Given the description of an element on the screen output the (x, y) to click on. 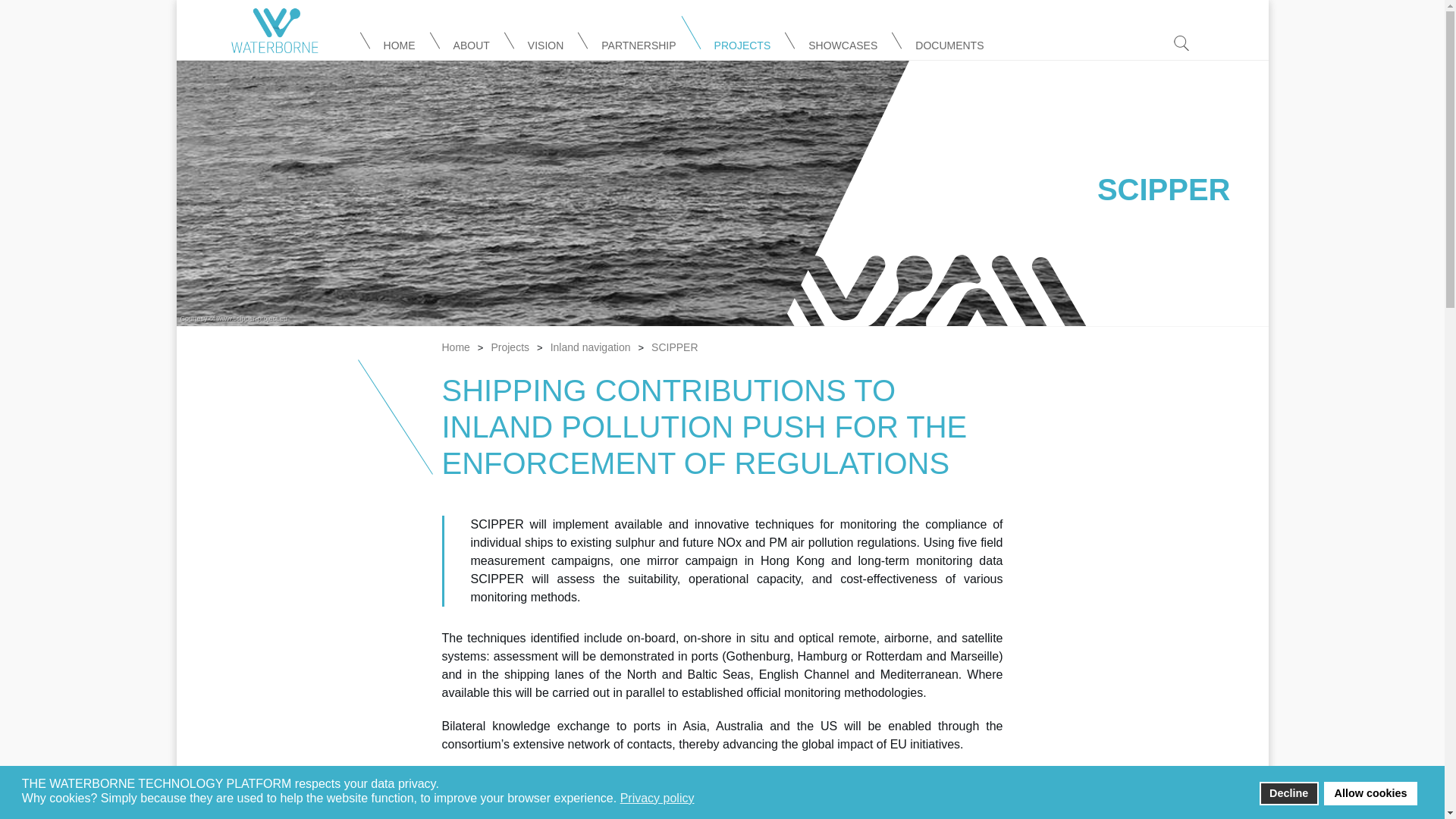
HOME (399, 41)
Decline (1289, 793)
PARTNERSHIP (638, 41)
ABOUT (470, 41)
Allow cookies (1369, 793)
Privacy policy (658, 798)
VISION (545, 41)
